Given the description of an element on the screen output the (x, y) to click on. 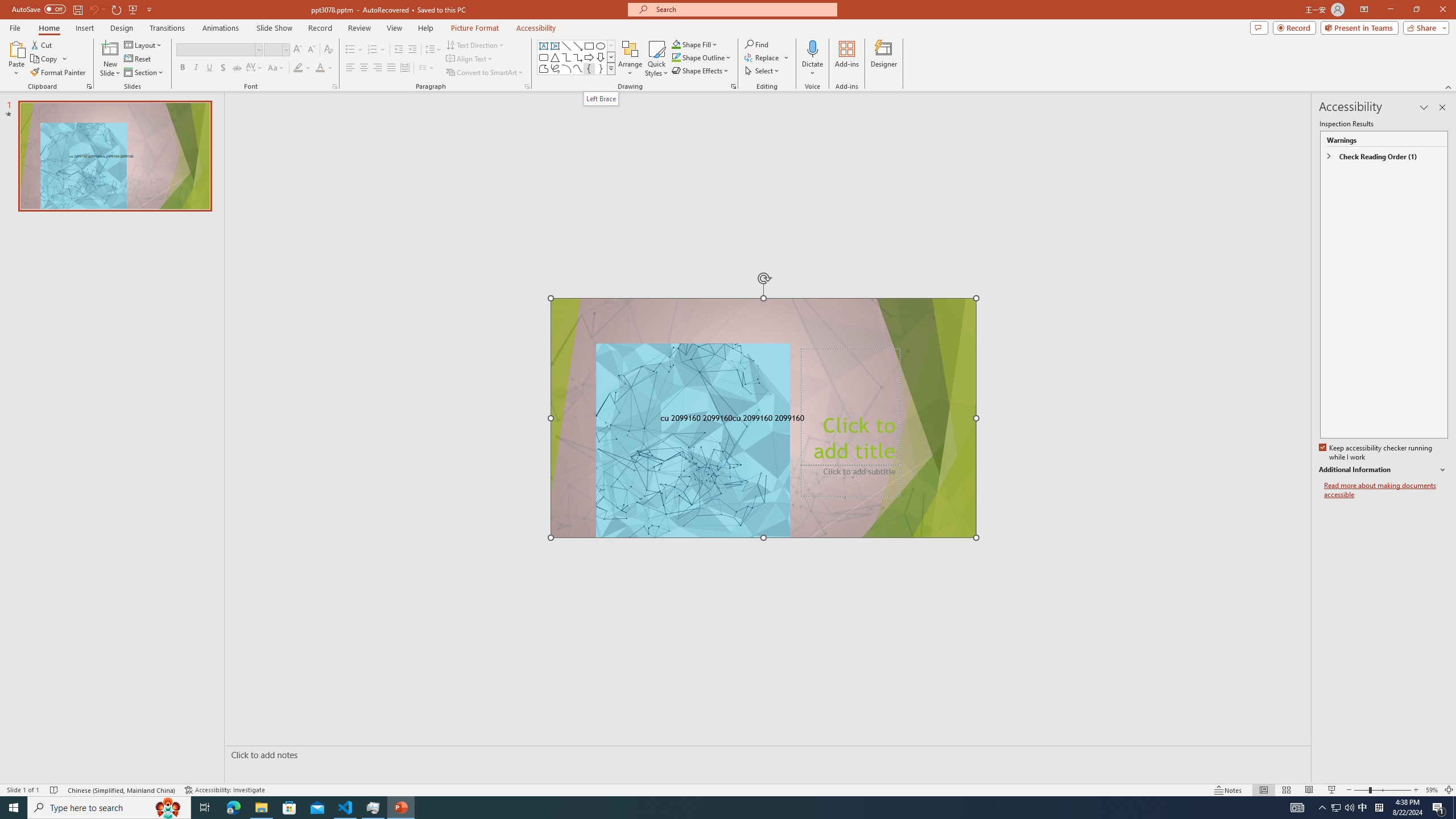
Zoom 59% (1431, 790)
